Given the description of an element on the screen output the (x, y) to click on. 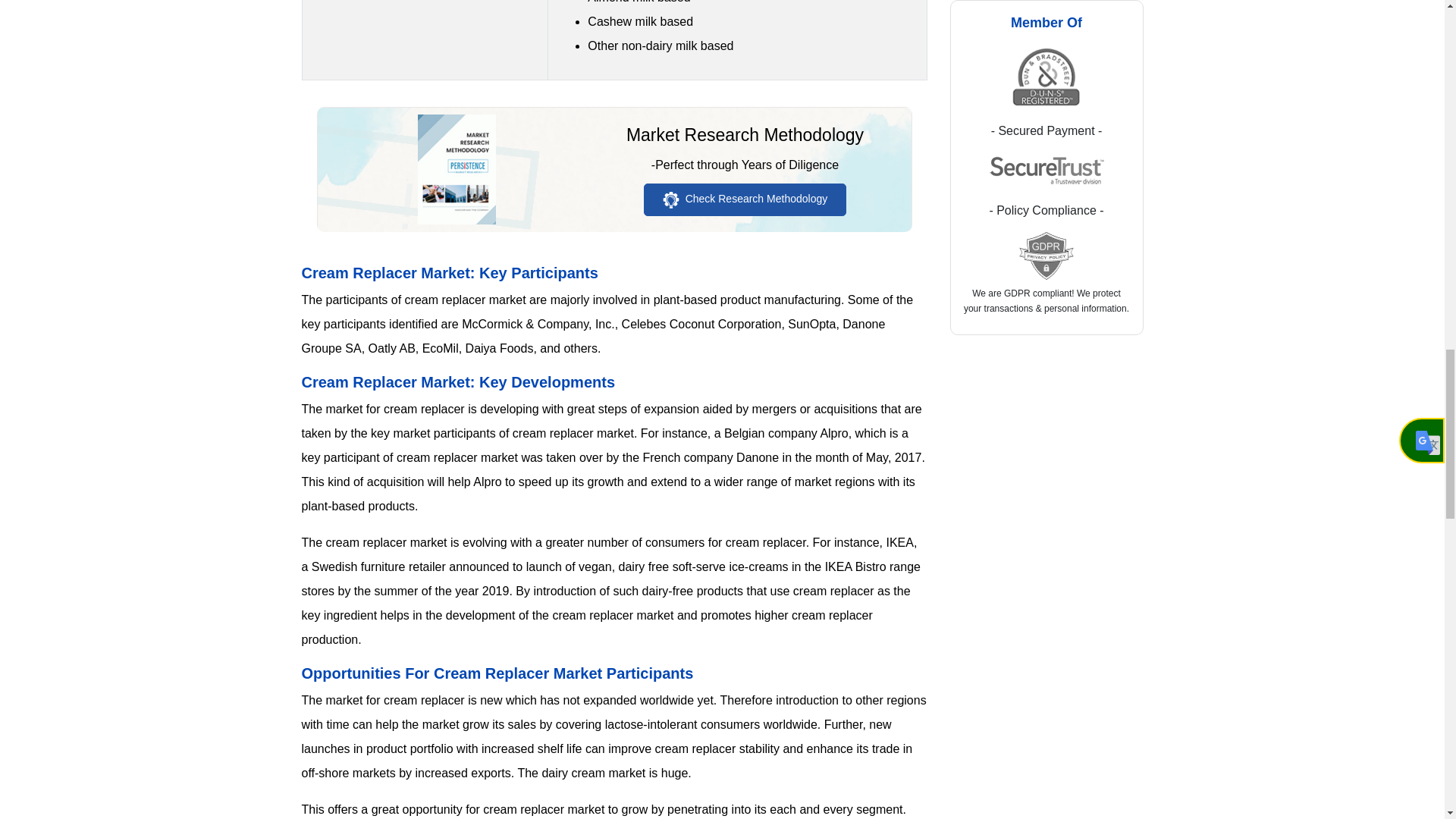
Check Research Methodology (744, 199)
